Given the description of an element on the screen output the (x, y) to click on. 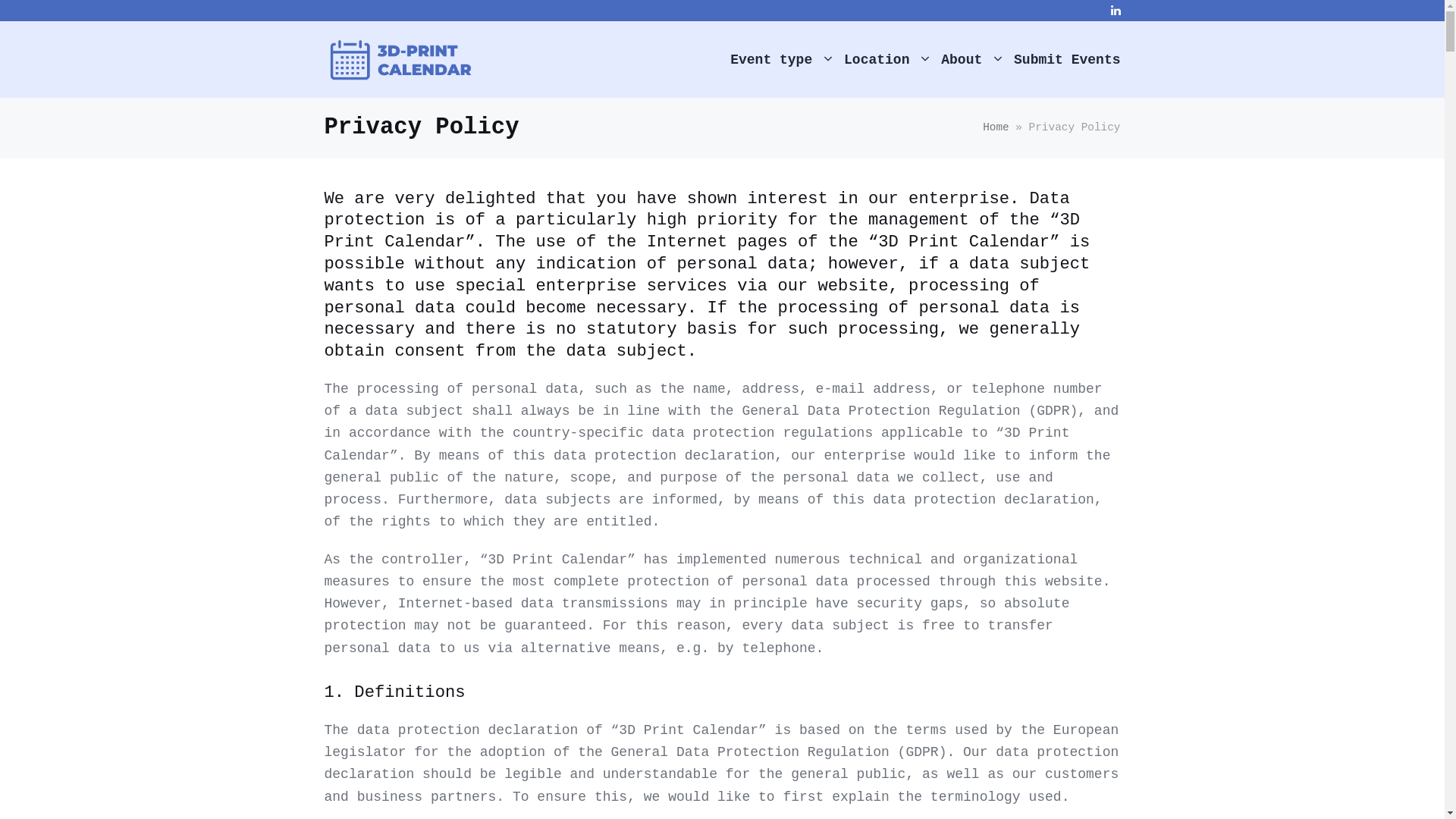
LinkedIn Element type: text (1115, 10)
Location Element type: text (886, 59)
Submit Events Element type: text (1066, 59)
Event type Element type: text (781, 59)
Home Element type: text (995, 127)
About Element type: text (971, 59)
